Given the description of an element on the screen output the (x, y) to click on. 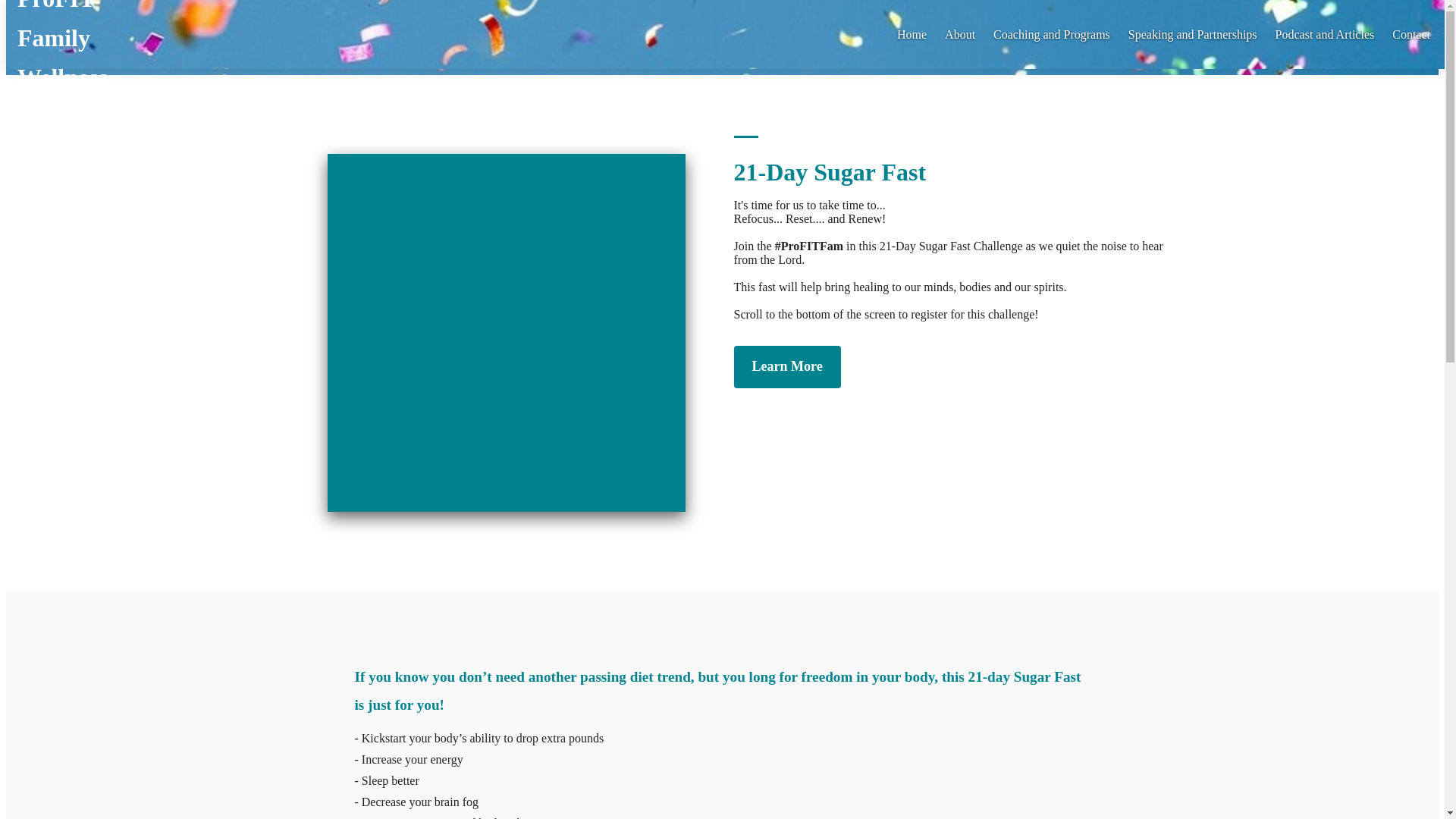
Home (911, 33)
About (959, 33)
ProFIT Family Wellness (143, 34)
Speaking and Partnerships (1192, 33)
Learn More (787, 366)
Coaching and Programs (1050, 33)
Podcast and Articles (1324, 33)
Contact (1410, 33)
